Given the description of an element on the screen output the (x, y) to click on. 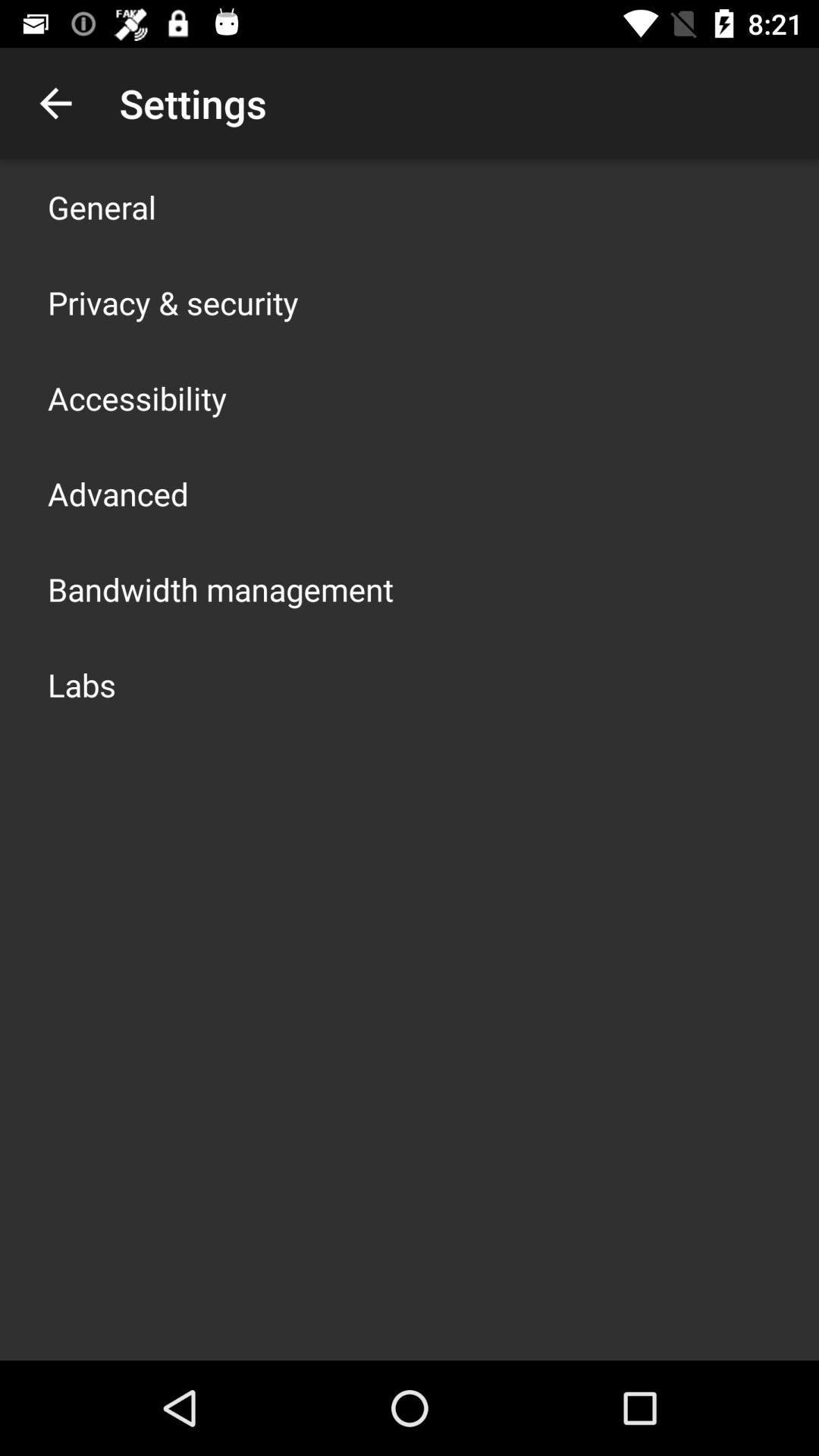
turn off the item above accessibility (172, 302)
